Given the description of an element on the screen output the (x, y) to click on. 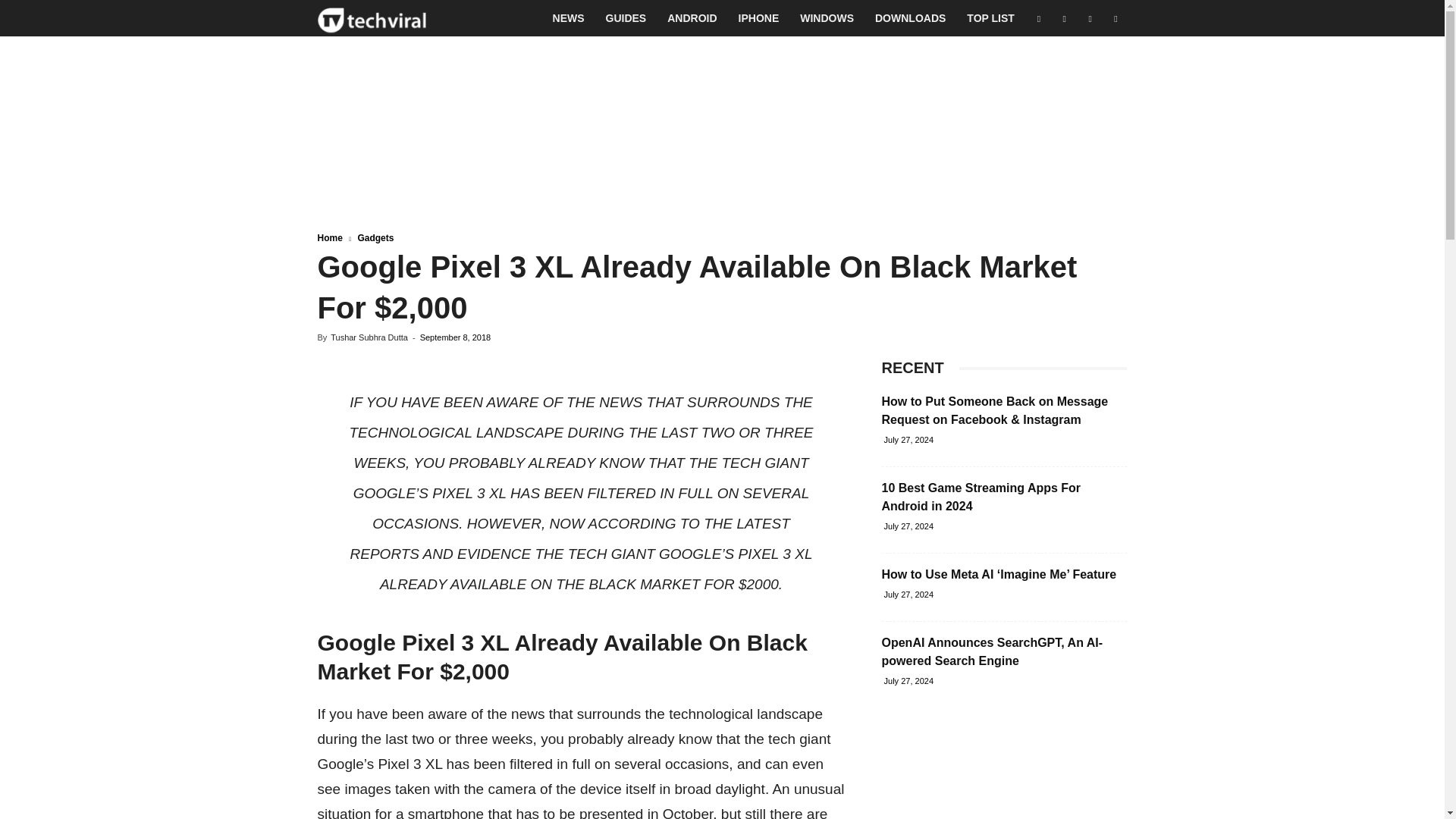
Tushar Subhra Dutta (368, 337)
TechViral (371, 18)
Tech Viral (371, 18)
ANDROID (691, 18)
GUIDES (626, 18)
WINDOWS (826, 18)
DOWNLOADS (910, 18)
IPHONE (759, 18)
TOP LIST (990, 18)
Home (329, 237)
NEWS (568, 18)
